Given the description of an element on the screen output the (x, y) to click on. 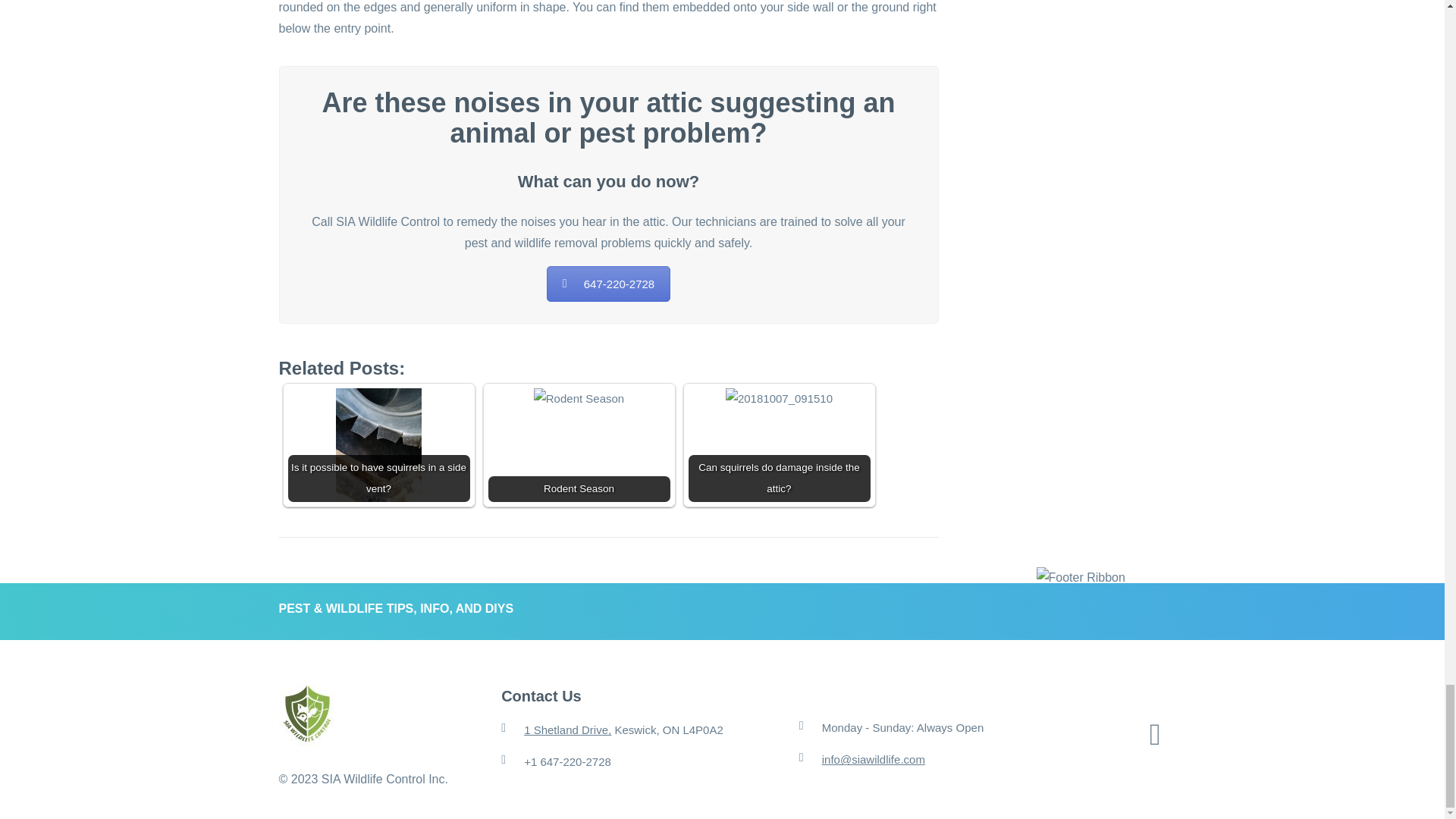
647-220-2728 (608, 284)
Rodent Season (579, 398)
Can squirrels do damage inside the attic? (778, 398)
